Given the description of an element on the screen output the (x, y) to click on. 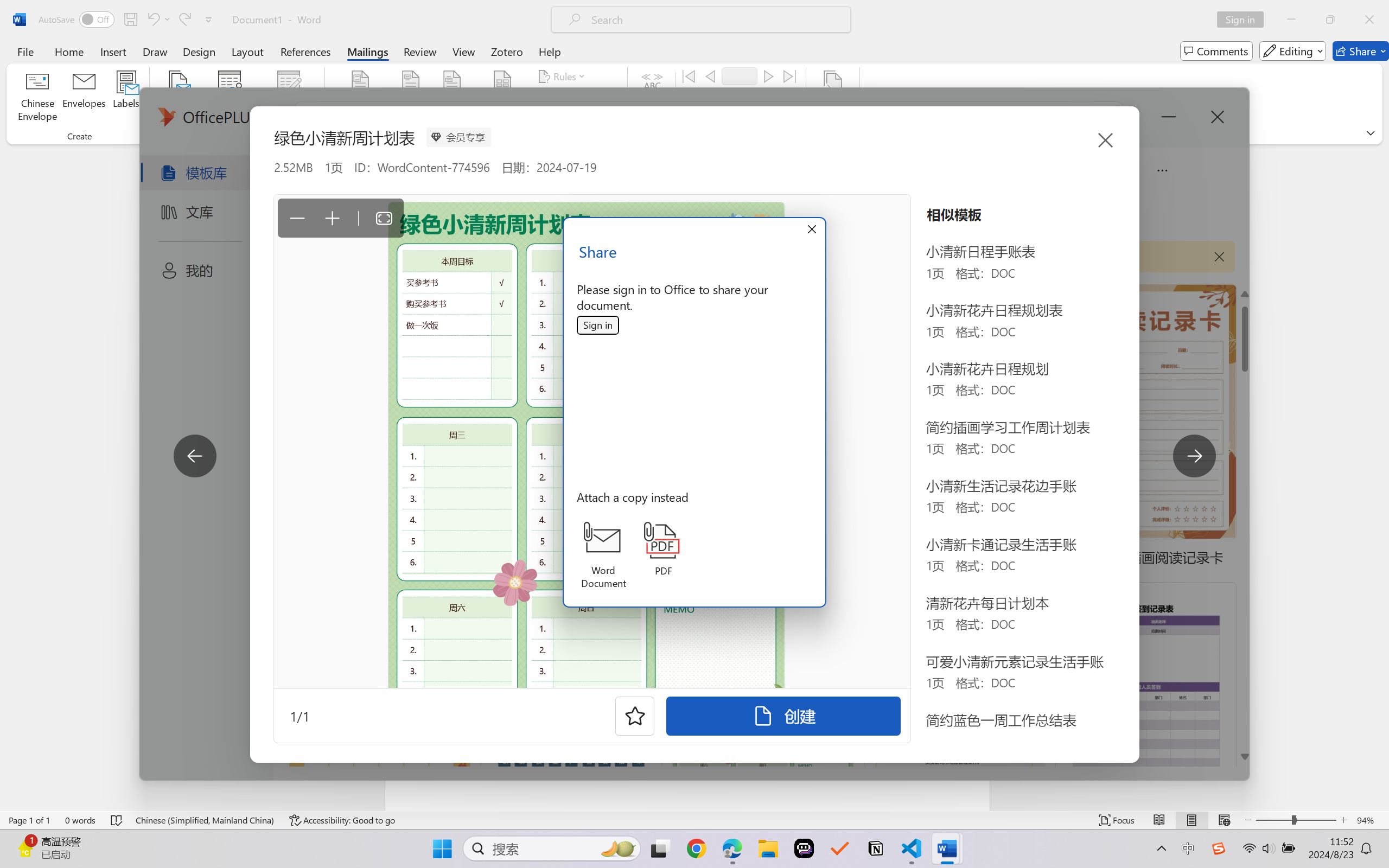
Greeting Line... (451, 97)
Editing (1292, 50)
PDF (663, 549)
Word Document (603, 555)
Preview Results (652, 97)
